Given the description of an element on the screen output the (x, y) to click on. 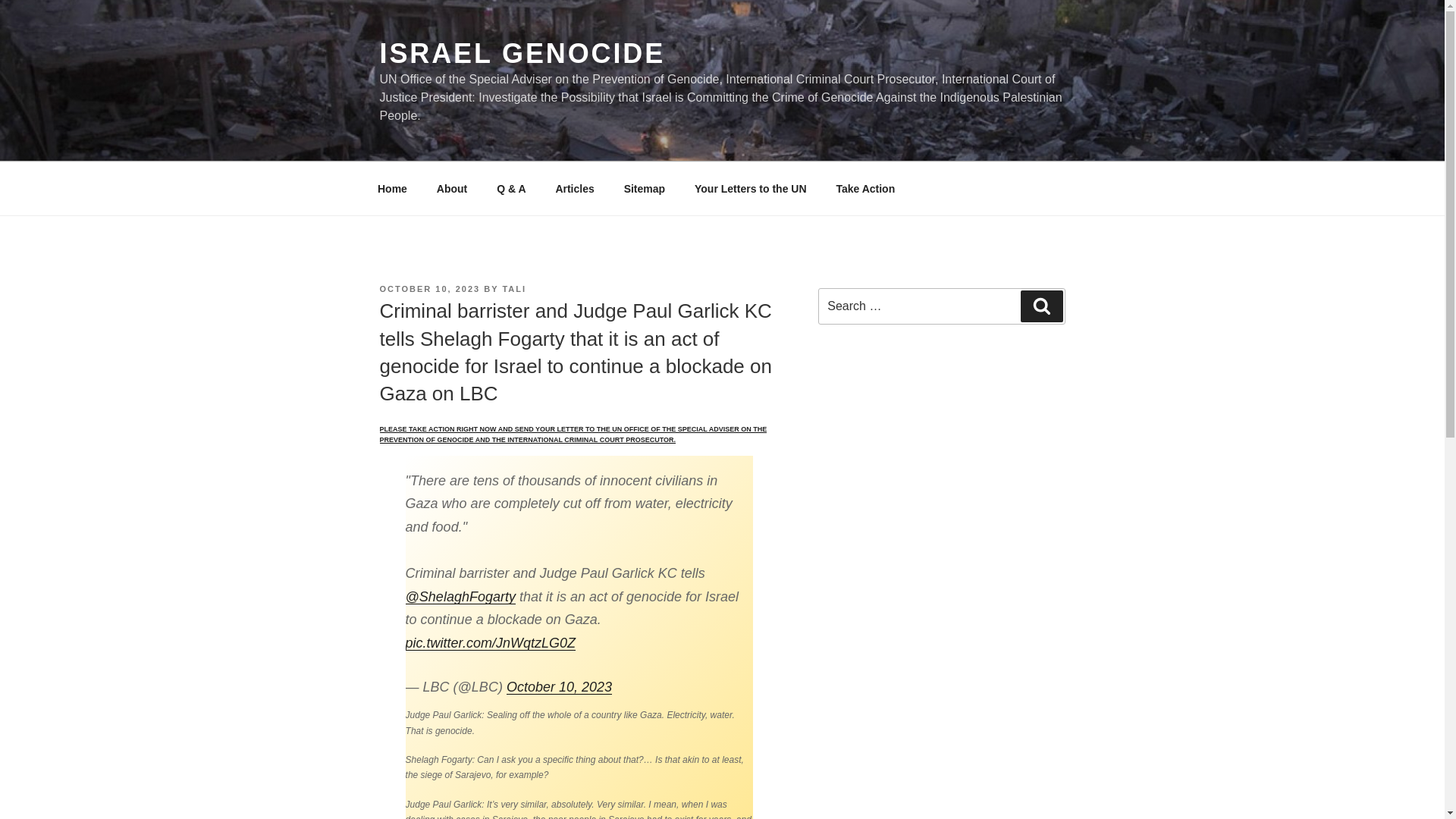
Sitemap (644, 188)
Home (392, 188)
Take Action (865, 188)
Articles (574, 188)
ISRAEL GENOCIDE (521, 52)
OCTOBER 10, 2023 (429, 288)
TALI (513, 288)
Your Letters to the UN (750, 188)
October 10, 2023 (558, 686)
About (451, 188)
